Given the description of an element on the screen output the (x, y) to click on. 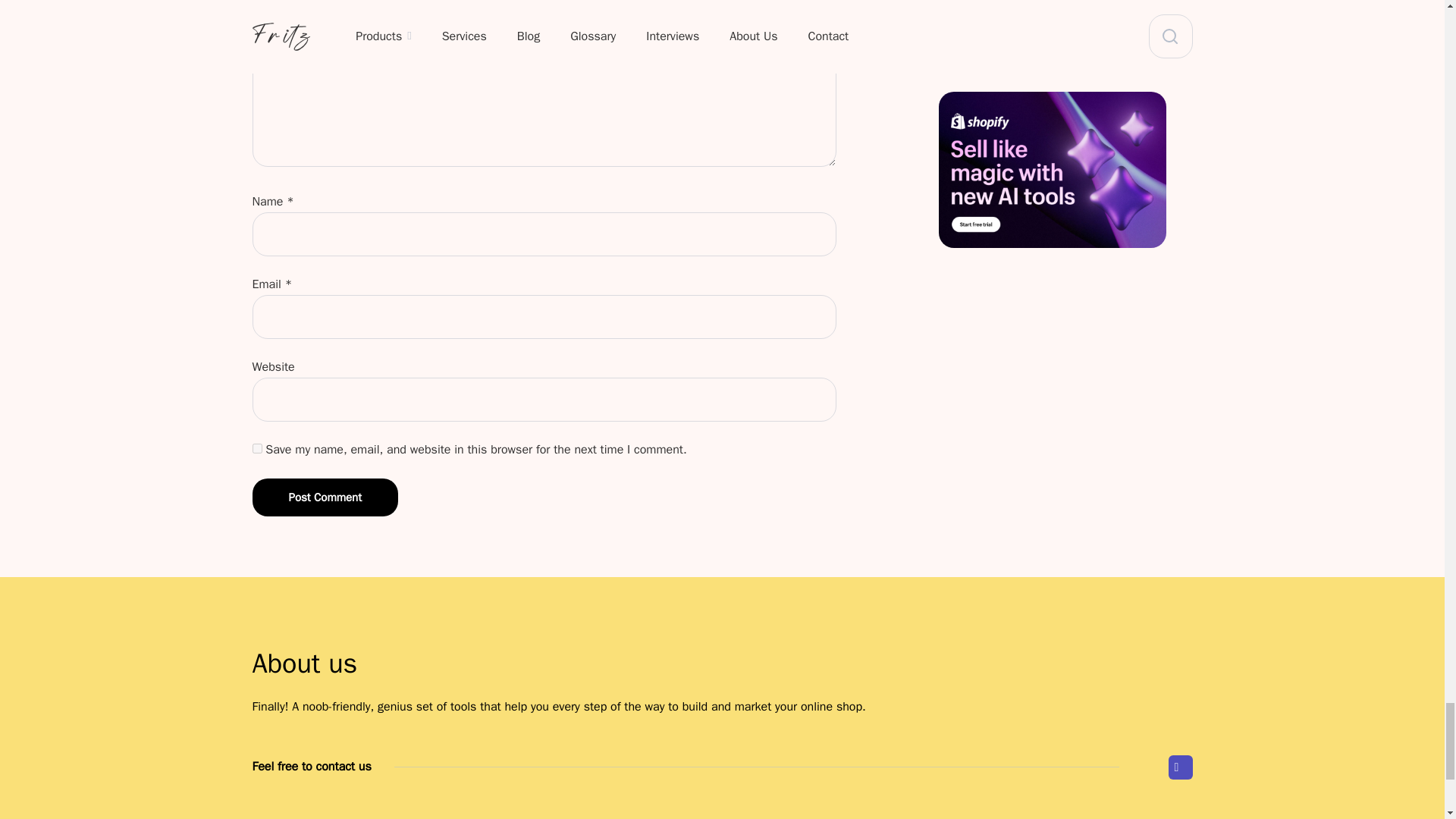
Post Comment (324, 497)
yes (256, 448)
